Given the description of an element on the screen output the (x, y) to click on. 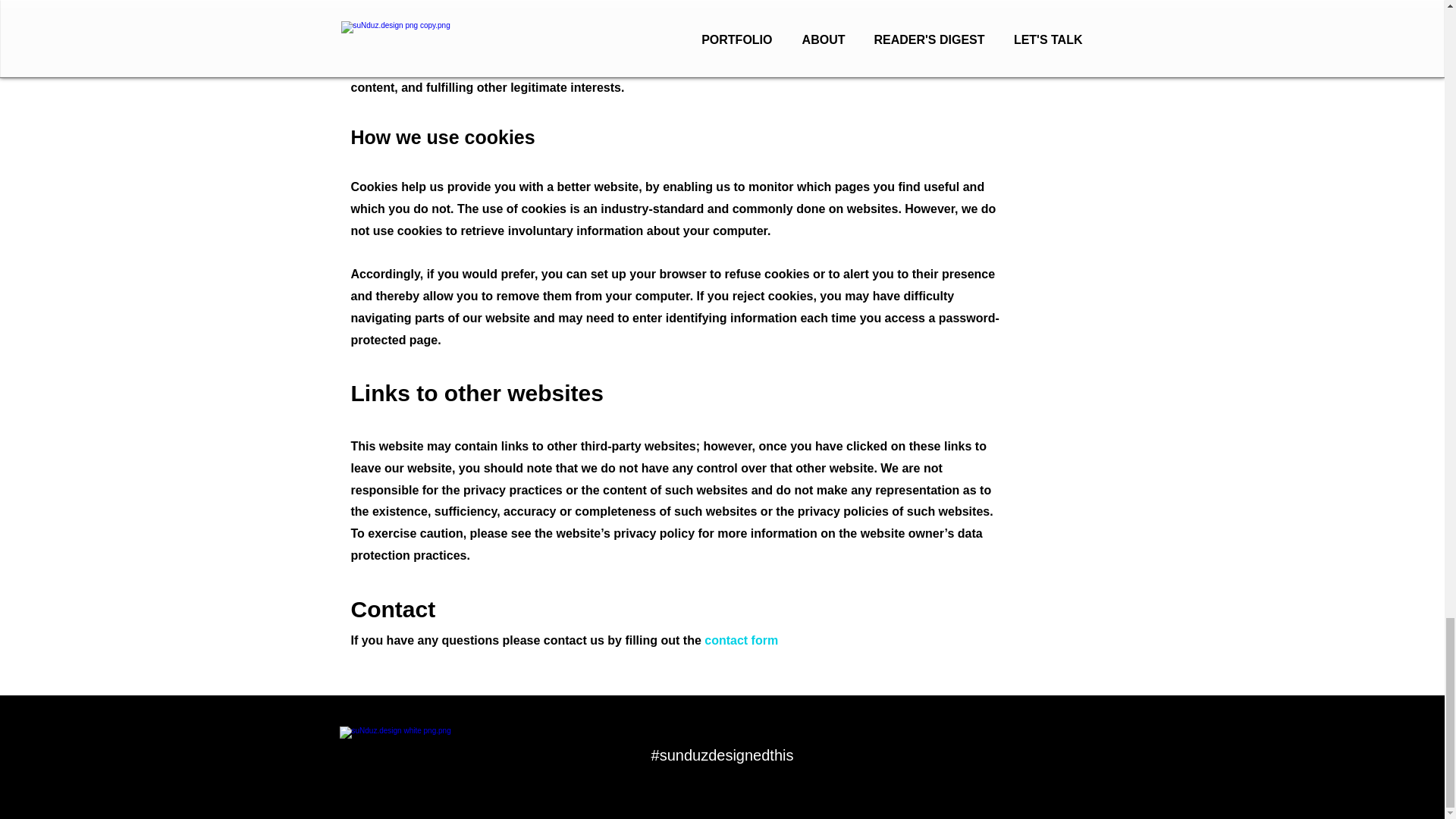
contact form (740, 640)
